Given the description of an element on the screen output the (x, y) to click on. 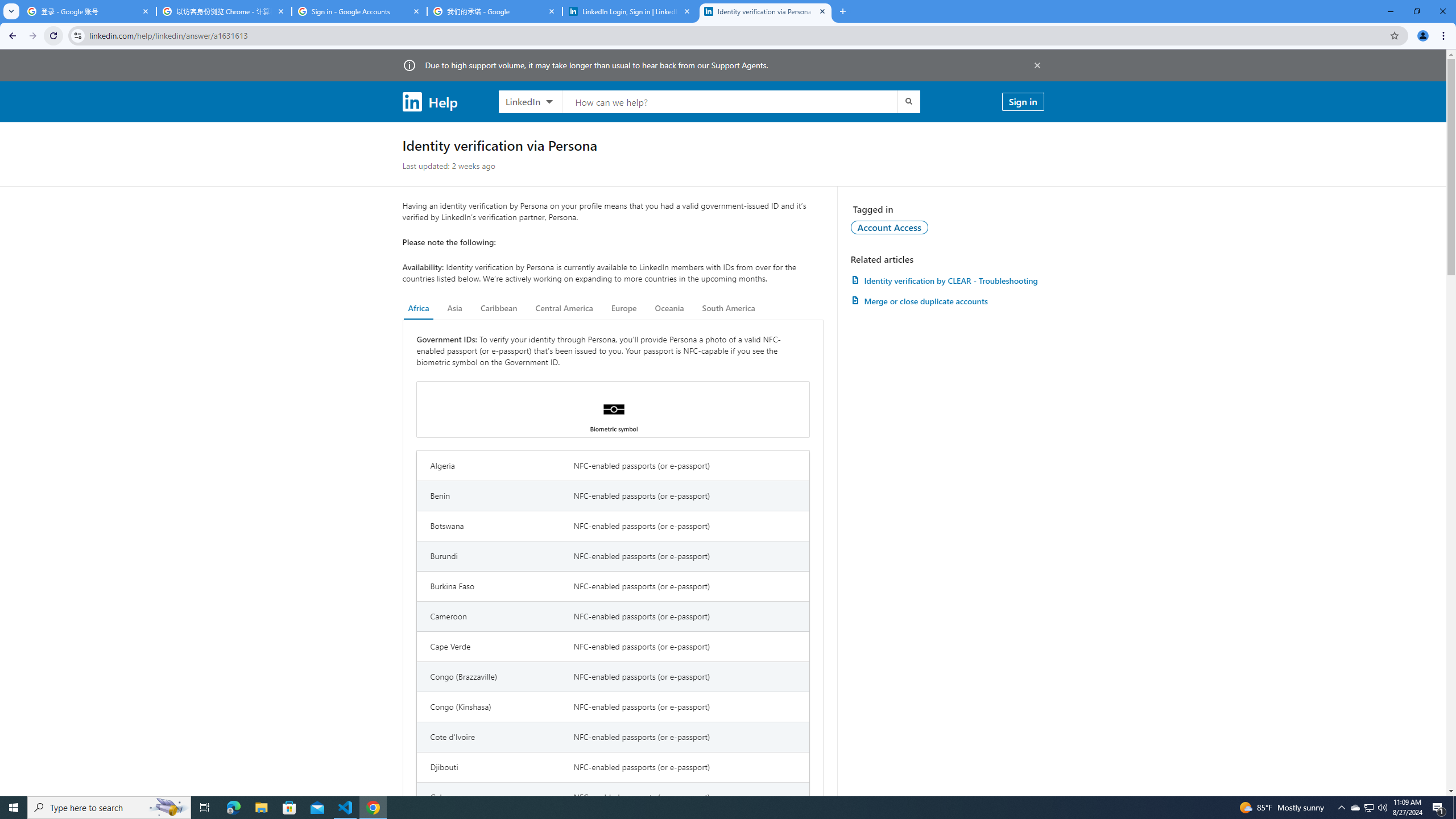
Account Access (889, 227)
Sign in - Google Accounts (359, 11)
LinkedIn products to search, LinkedIn selected (530, 101)
South America (728, 308)
Africa (418, 308)
